Given the description of an element on the screen output the (x, y) to click on. 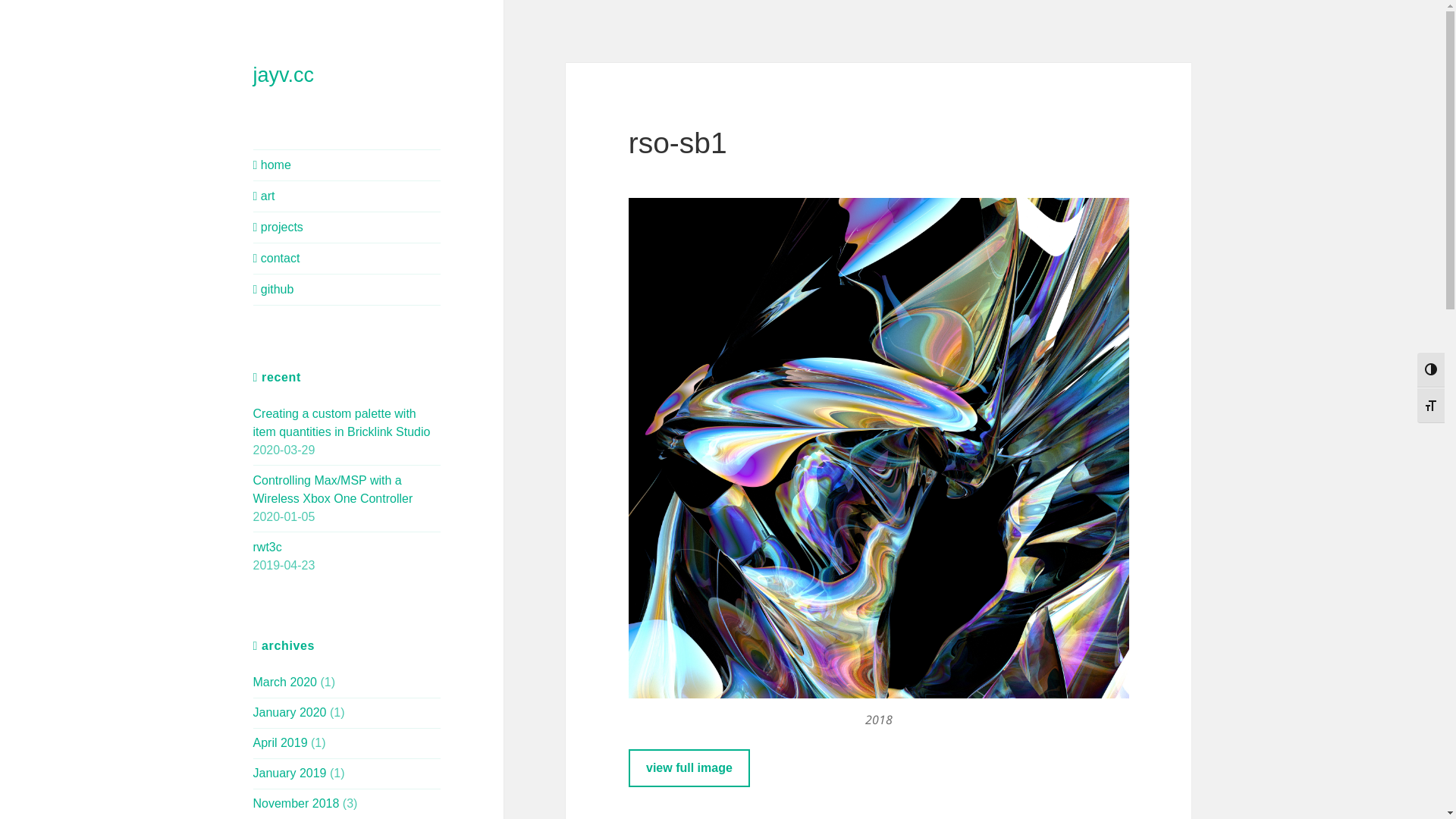
March 2020 Element type: text (285, 681)
jayv.cc Element type: text (283, 74)
January 2020 Element type: text (289, 712)
April 2019 Element type: text (280, 742)
rwt3c Element type: text (267, 546)
TOGGLE FONT SIZE Element type: text (1430, 405)
January 2019 Element type: text (289, 772)
November 2018 Element type: text (296, 803)
TOGGLE HIGH CONTRAST Element type: text (1430, 369)
view full image Element type: text (688, 767)
Controlling Max/MSP with a Wireless Xbox One Controller Element type: text (333, 489)
